Given the description of an element on the screen output the (x, y) to click on. 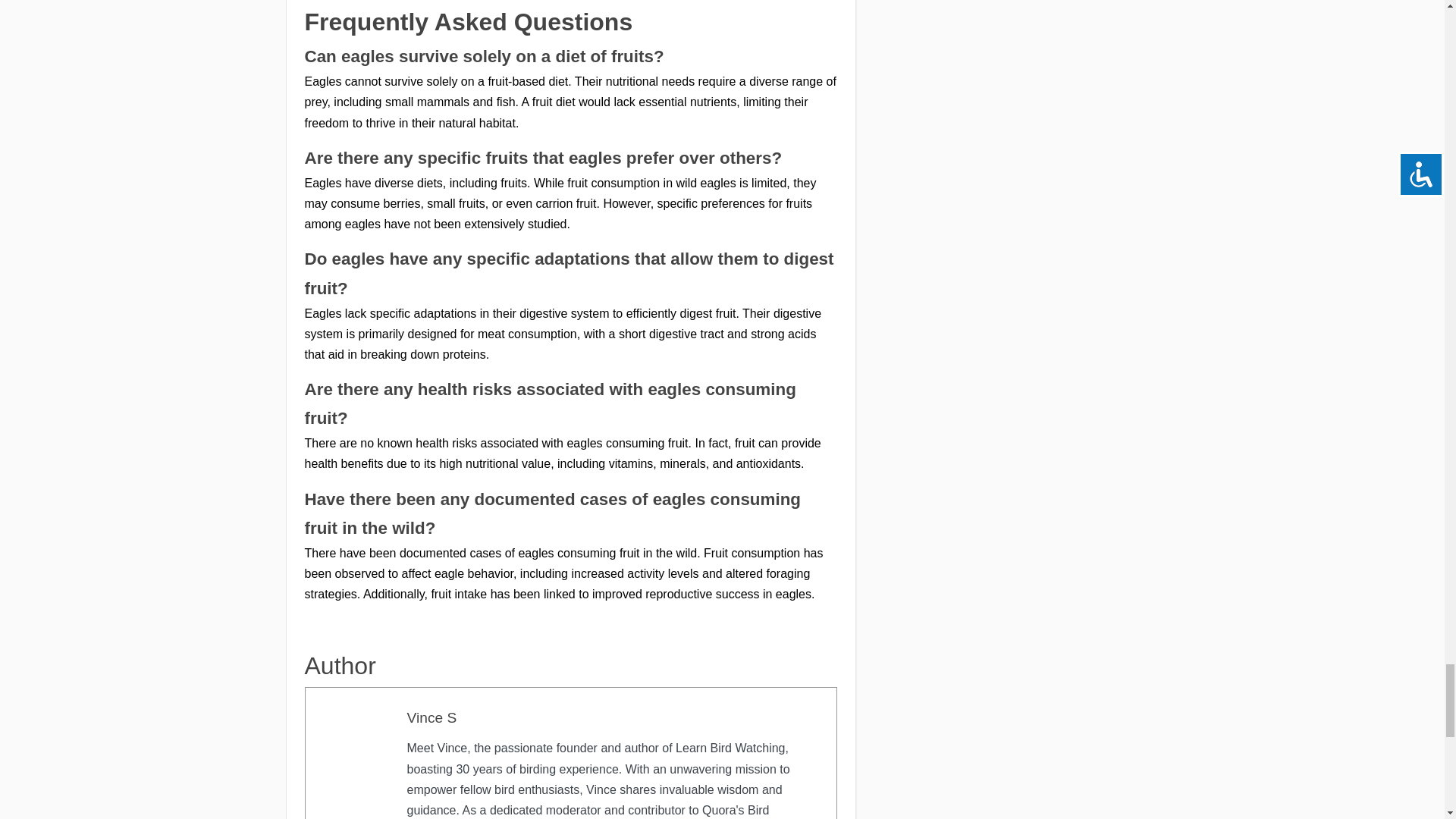
Vince S (431, 717)
